Given the description of an element on the screen output the (x, y) to click on. 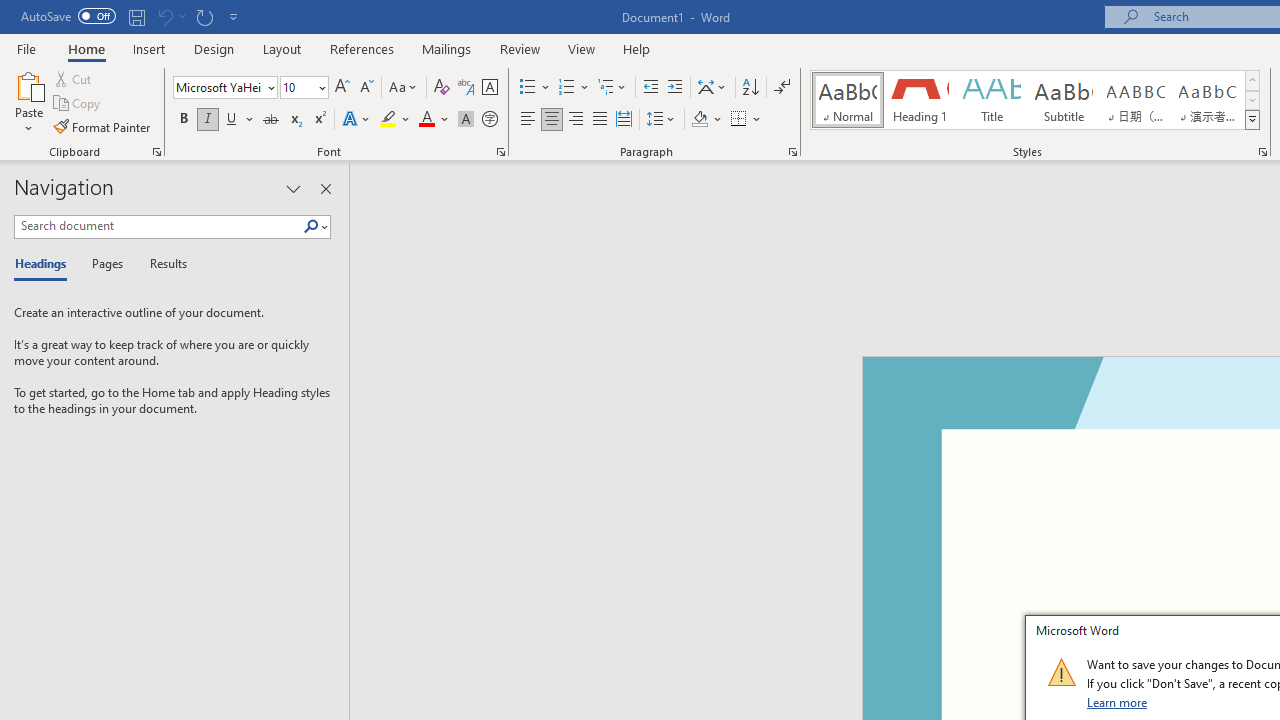
Text Highlight Color Yellow (388, 119)
Distributed (623, 119)
Learn more (1118, 702)
Align Right (575, 119)
Align Left (527, 119)
Phonetic Guide... (465, 87)
Character Shading (465, 119)
Justify (599, 119)
Subtitle (1063, 100)
Pages (105, 264)
